Given the description of an element on the screen output the (x, y) to click on. 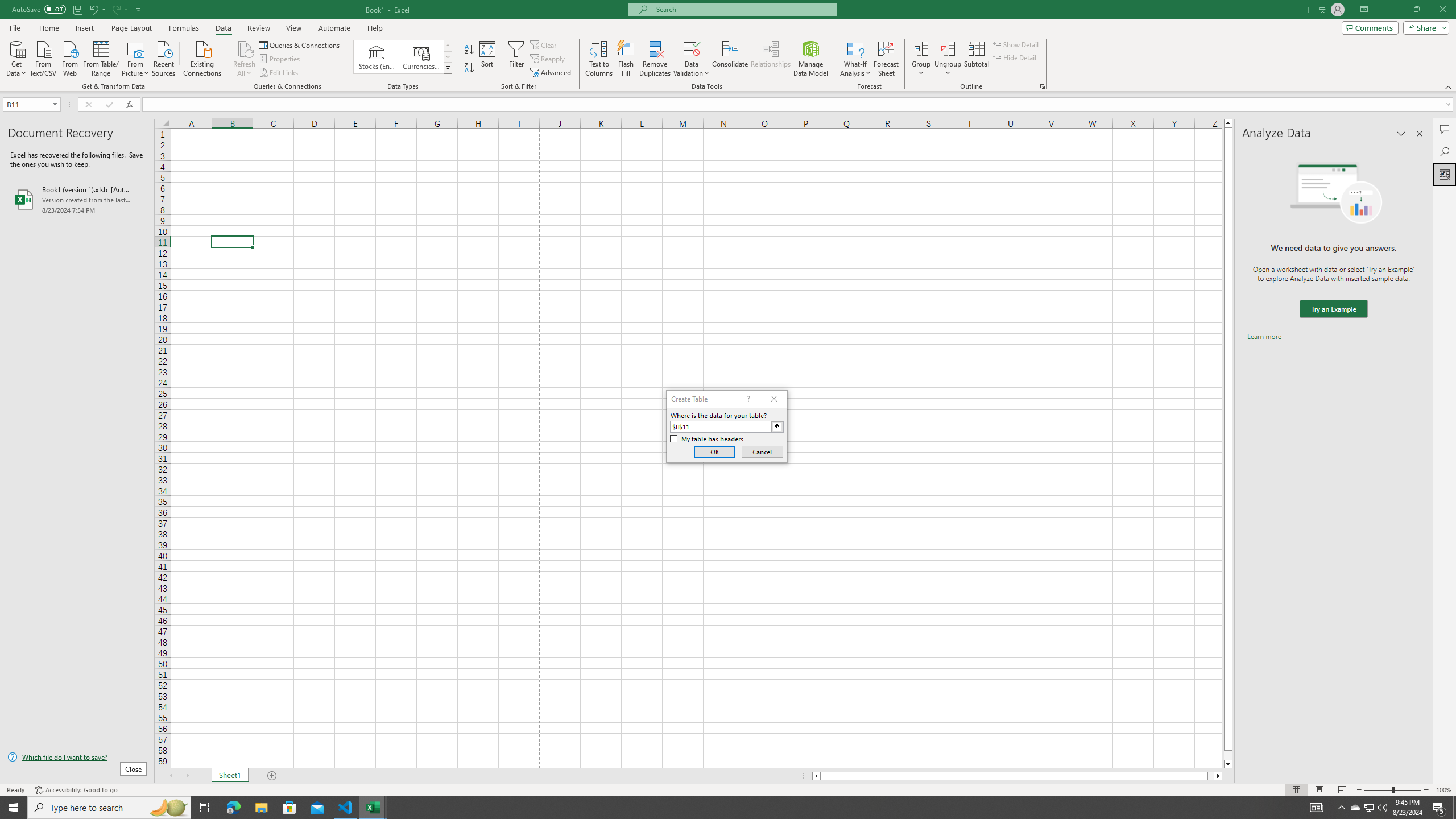
View (293, 28)
Ungroup... (947, 48)
From Text/CSV (43, 57)
From Web (69, 57)
Hide Detail (1014, 56)
Filter (515, 58)
Stocks (English) (375, 56)
Data (223, 28)
Group... (921, 58)
Recent Sources (163, 57)
Advanced... (551, 72)
Line down (1228, 764)
Currencies (English) (420, 56)
Group and Outline Settings (1042, 85)
Ungroup... (947, 58)
